Given the description of an element on the screen output the (x, y) to click on. 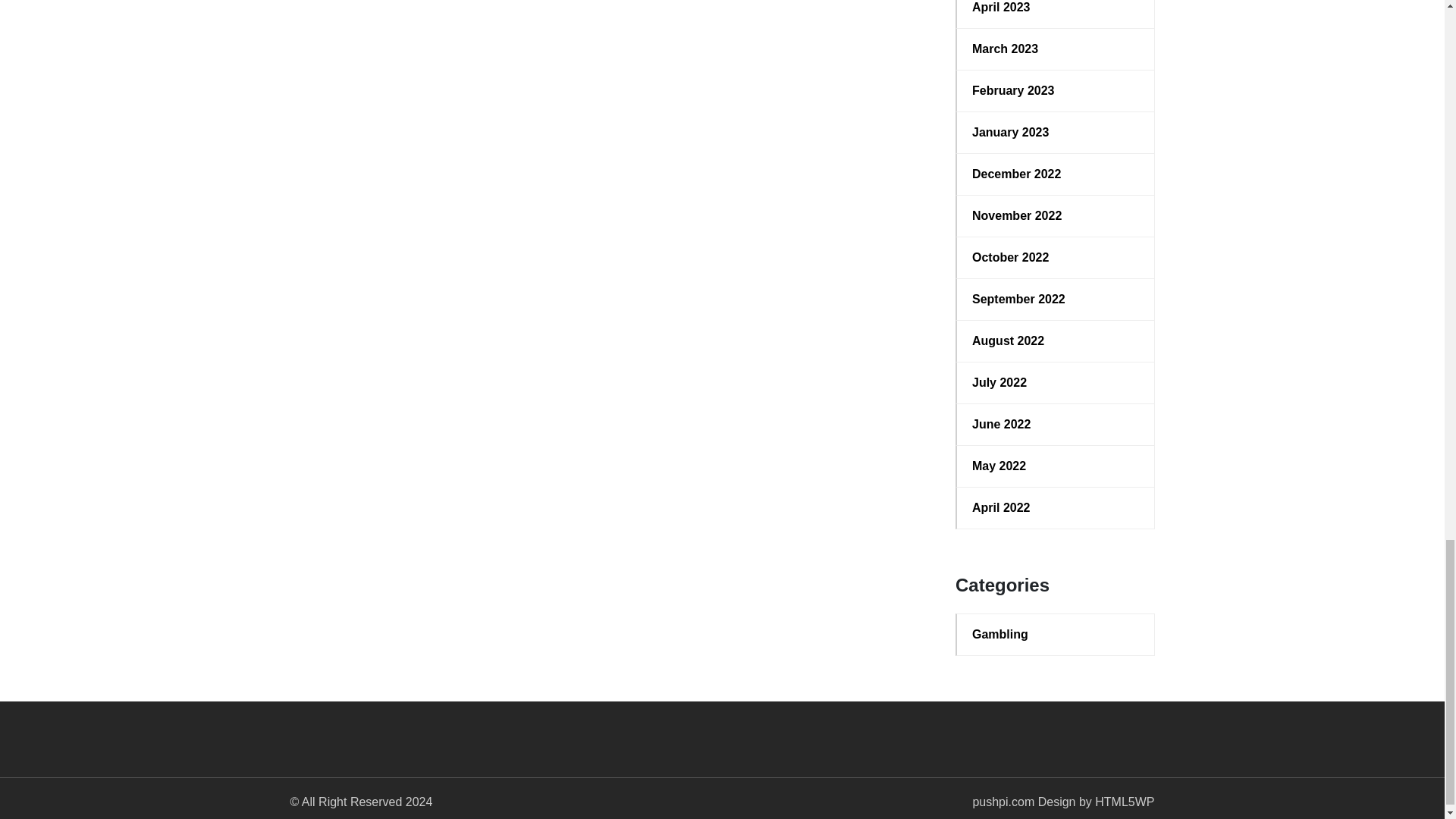
December 2022 (1055, 174)
January 2023 (1055, 132)
November 2022 (1055, 216)
March 2023 (1055, 49)
February 2023 (1055, 90)
September 2022 (1055, 299)
October 2022 (1055, 257)
April 2023 (1055, 8)
